Given the description of an element on the screen output the (x, y) to click on. 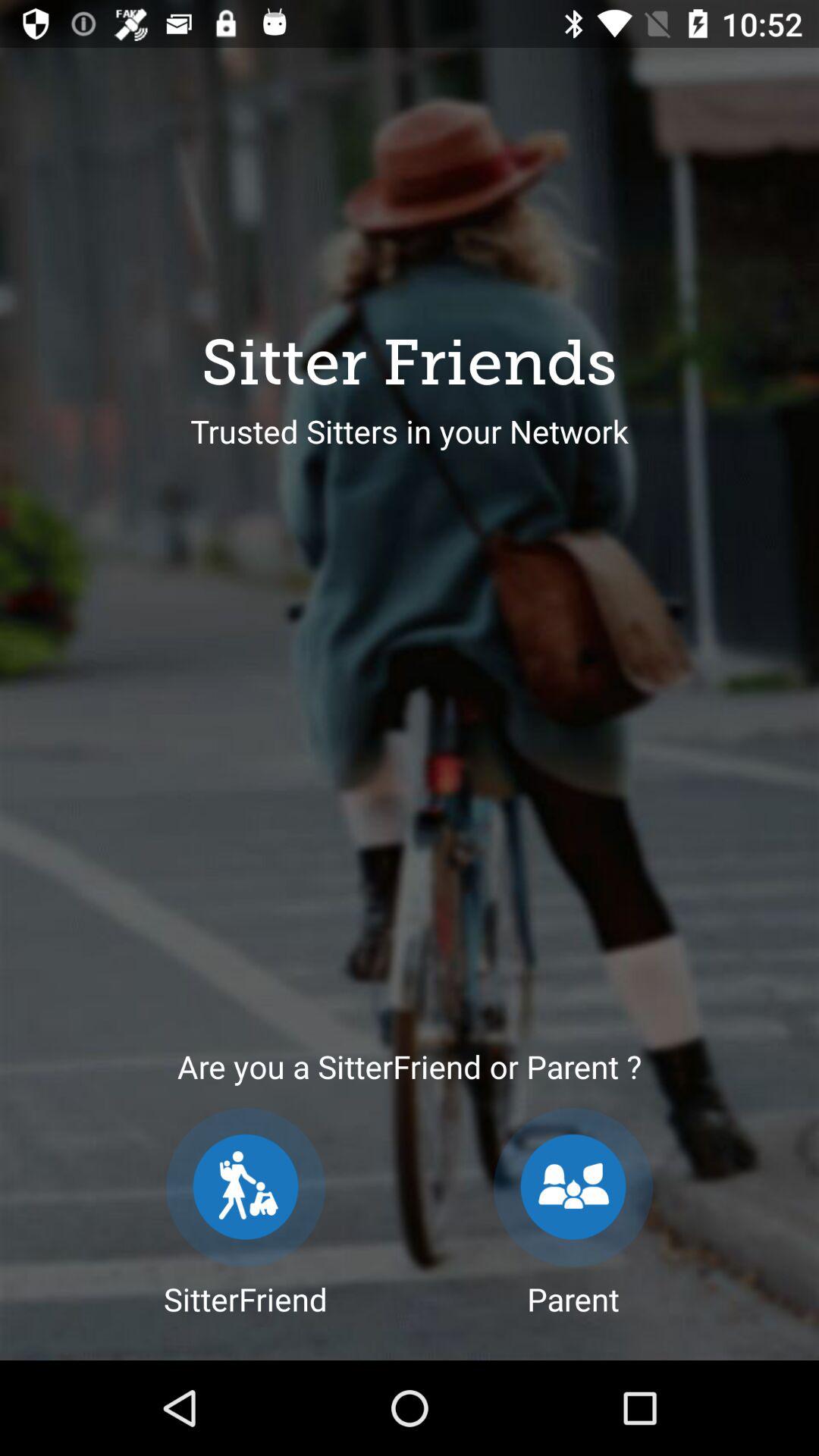
sitter friend option icon (245, 1187)
